Given the description of an element on the screen output the (x, y) to click on. 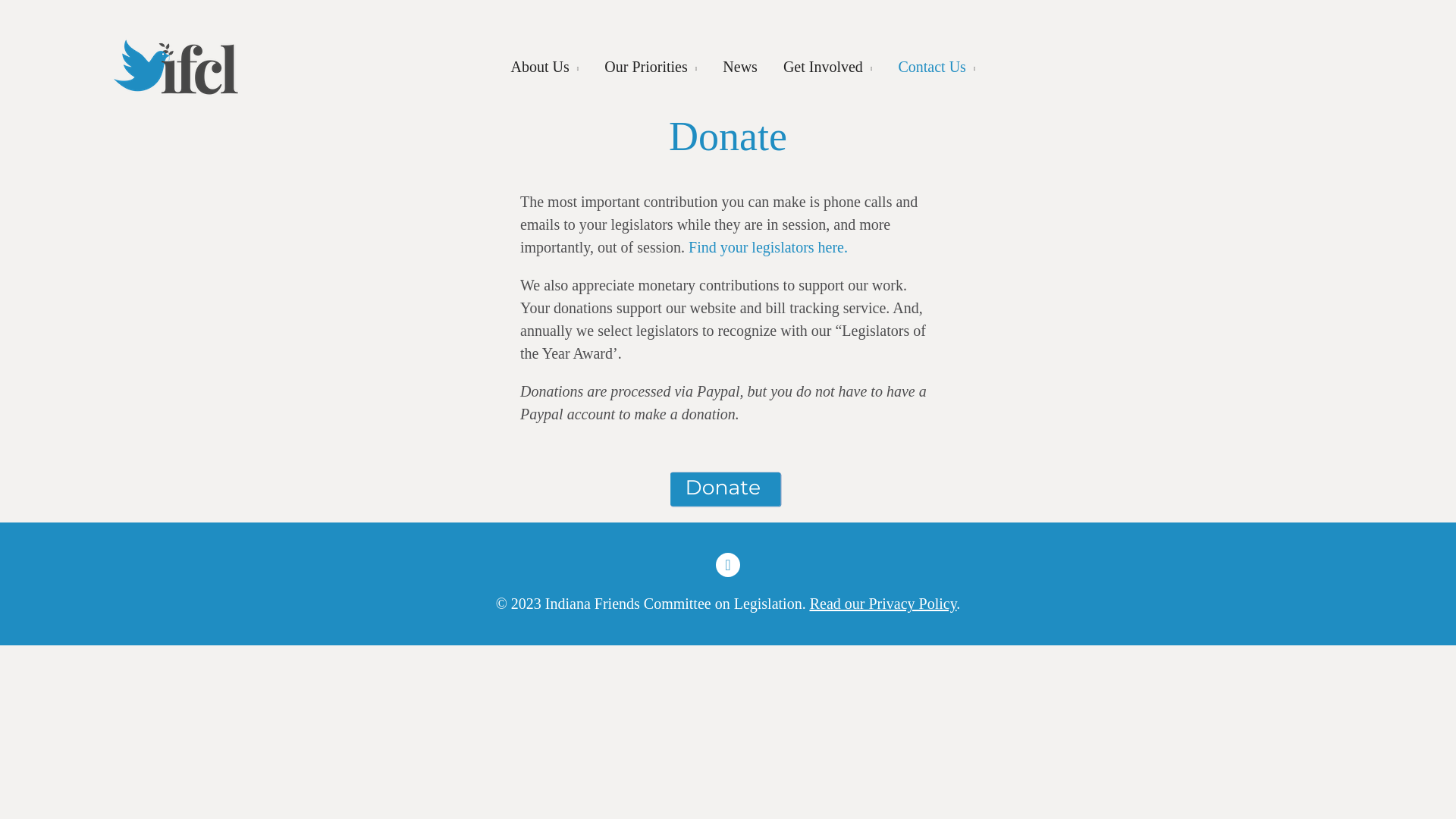
News (739, 66)
Find your legislators here. (767, 247)
Read our Privacy Policy (882, 603)
Get Involved (823, 66)
PayPal - The safer, easier way to pay online! (725, 489)
Our Priorities (645, 66)
About Us (540, 66)
Contact Us (931, 66)
